Given the description of an element on the screen output the (x, y) to click on. 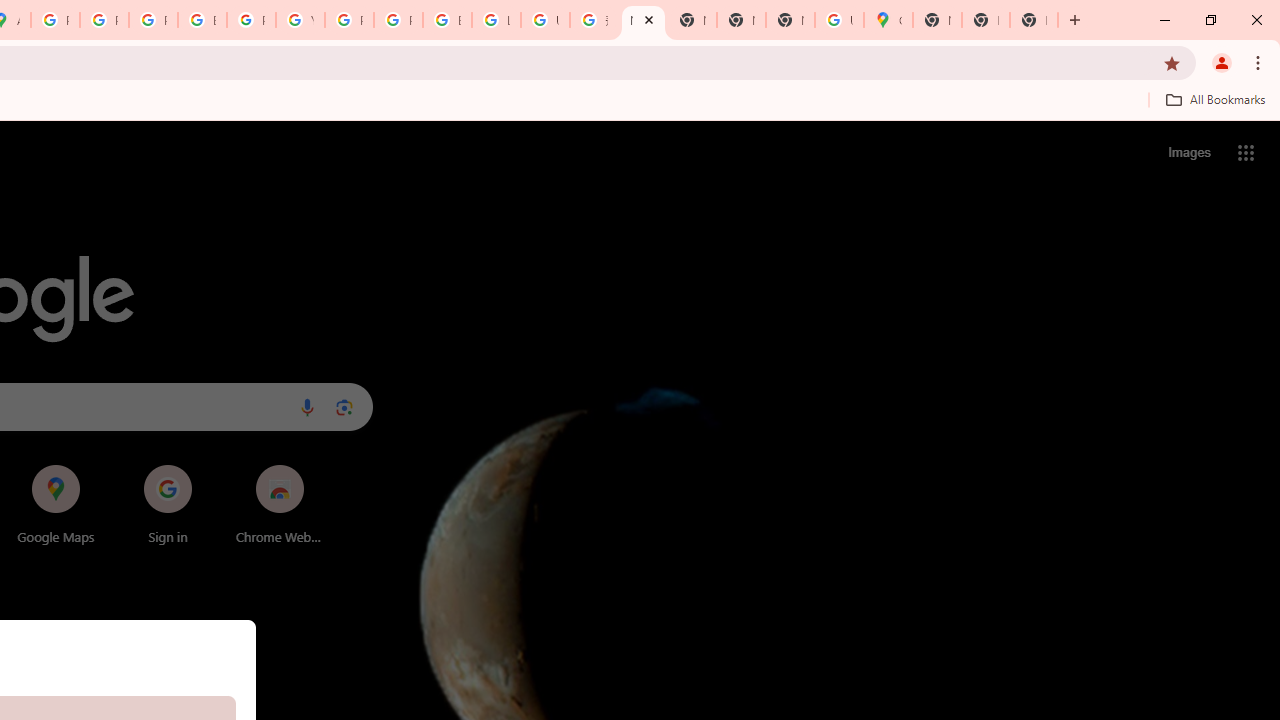
New Tab (790, 20)
Privacy Help Center - Policies Help (153, 20)
Google Maps (888, 20)
Privacy Help Center - Policies Help (104, 20)
Use Google Maps in Space - Google Maps Help (839, 20)
